Given the description of an element on the screen output the (x, y) to click on. 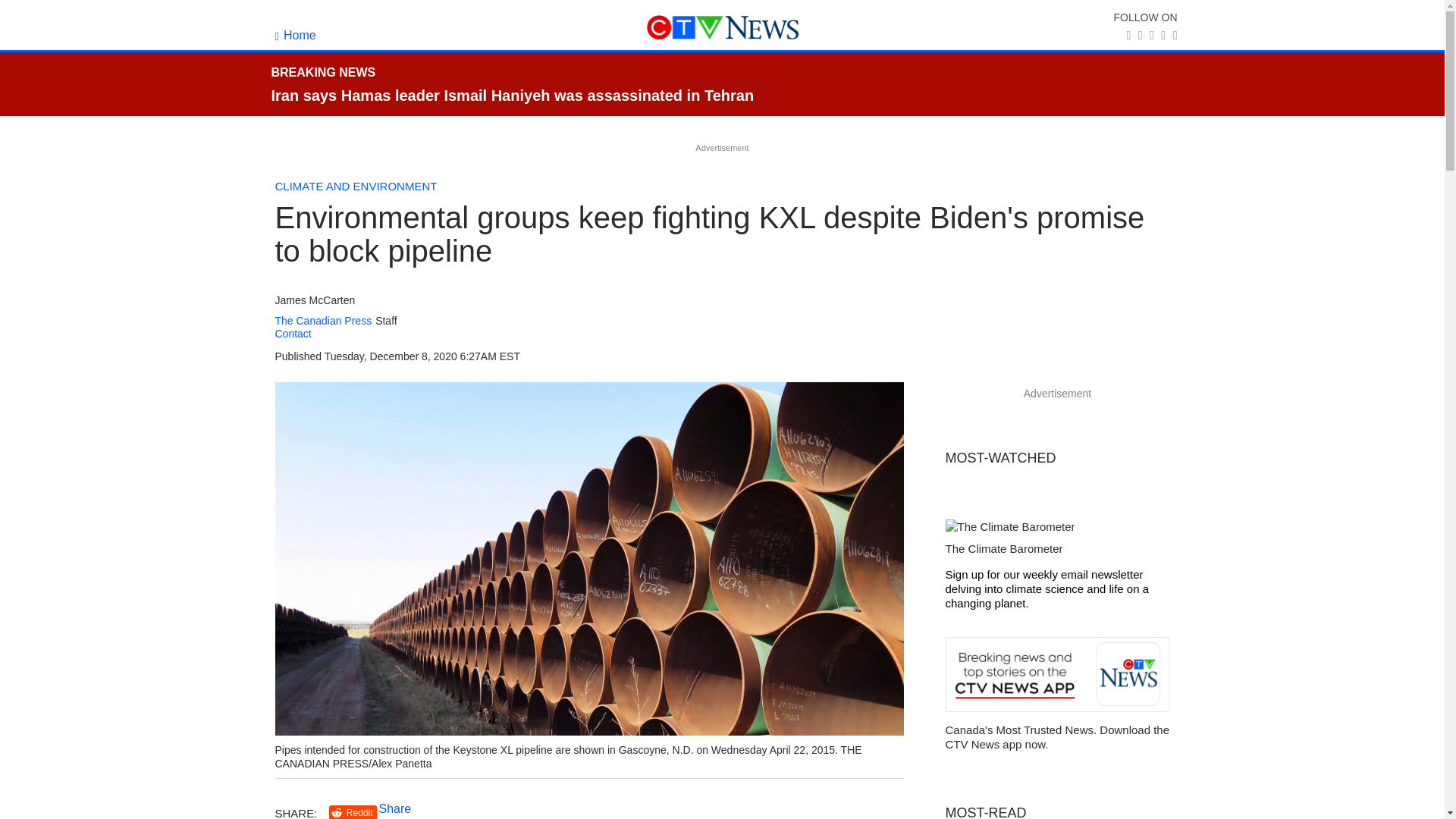
Reddit (353, 812)
Share (395, 808)
Home (295, 34)
The Canadian Press (323, 320)
CLIMATE AND ENVIRONMENT (355, 185)
Contact (293, 333)
